Given the description of an element on the screen output the (x, y) to click on. 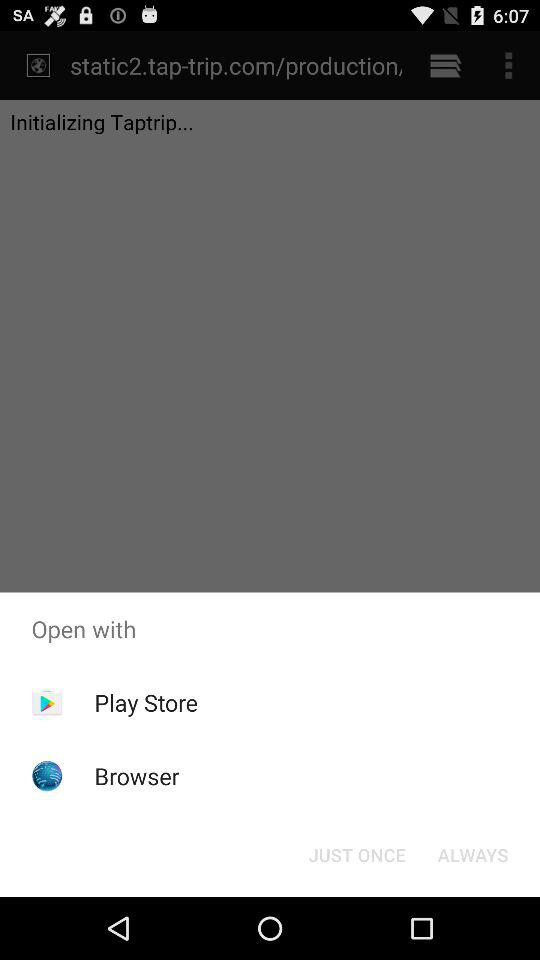
select the item below the open with app (146, 702)
